Given the description of an element on the screen output the (x, y) to click on. 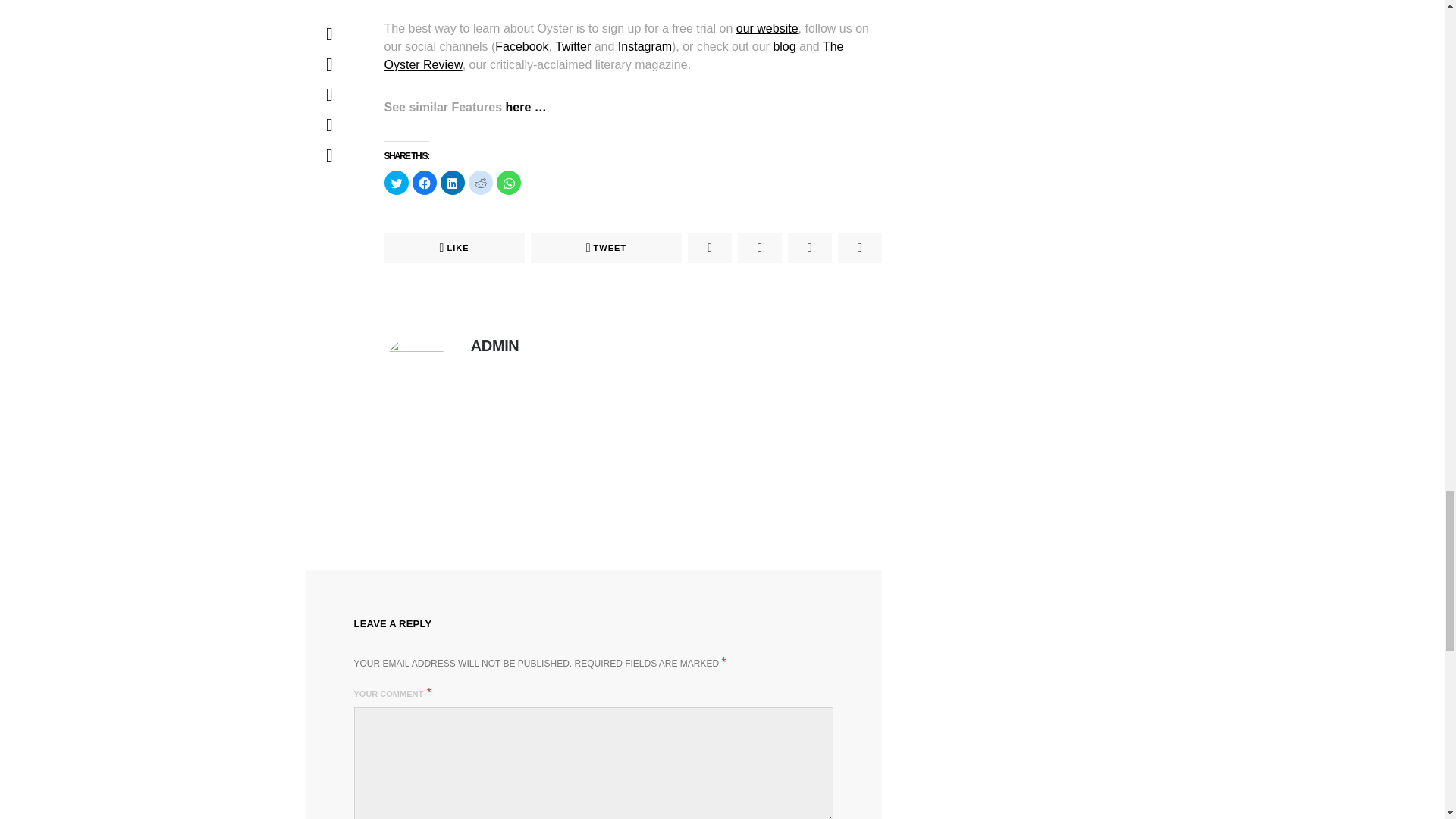
blog (783, 45)
Click to share on Twitter (395, 182)
Facebook (521, 45)
Click to share on LinkedIn (451, 182)
Click to share on Reddit (480, 182)
Click to share on Facebook (424, 182)
Click to share on WhatsApp (507, 182)
Instagram (644, 45)
Twitter (572, 45)
our website (766, 27)
